Given the description of an element on the screen output the (x, y) to click on. 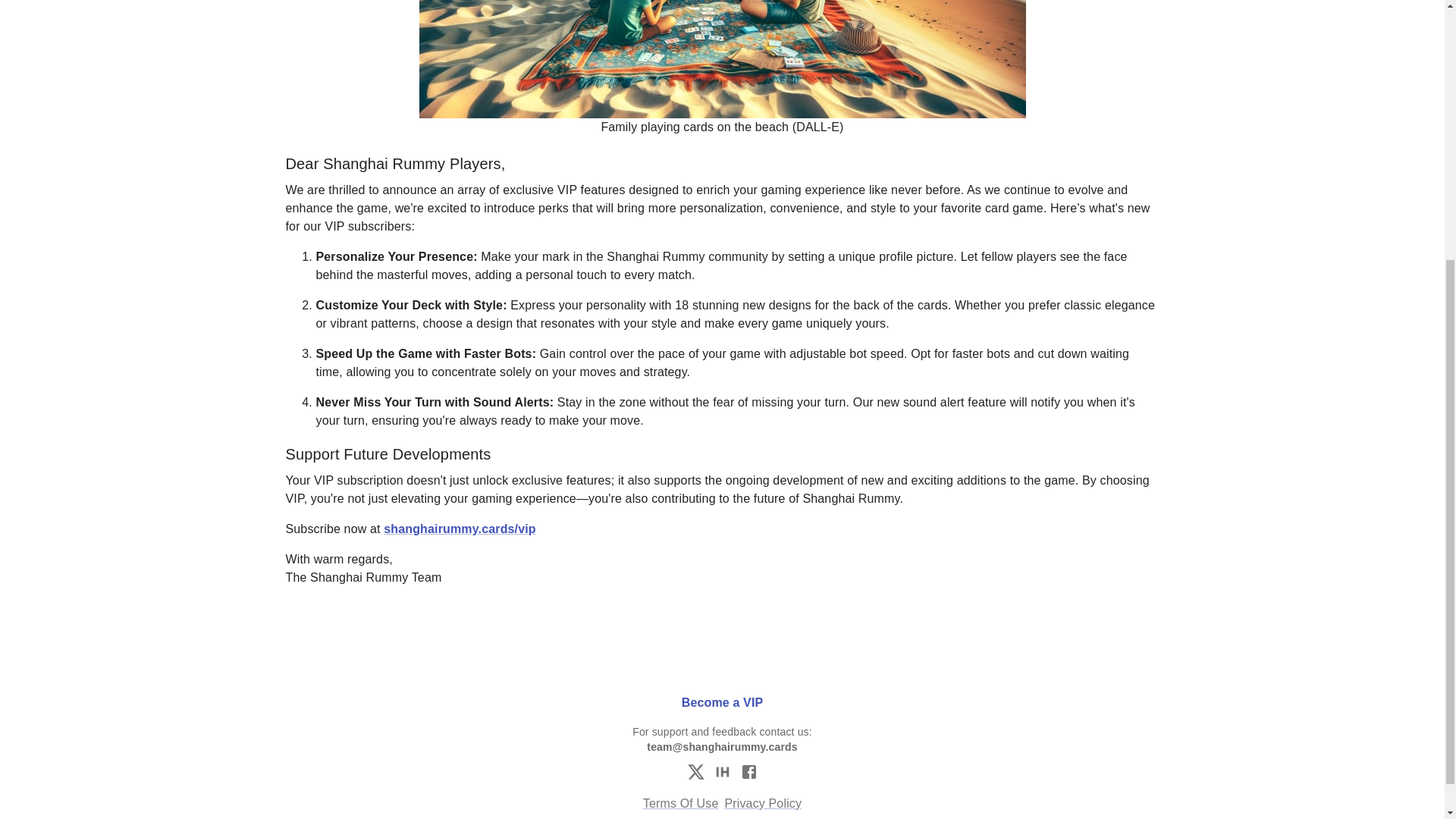
Privacy Policy (762, 803)
Become a VIP (721, 688)
Terms Of Use (681, 803)
